Given the description of an element on the screen output the (x, y) to click on. 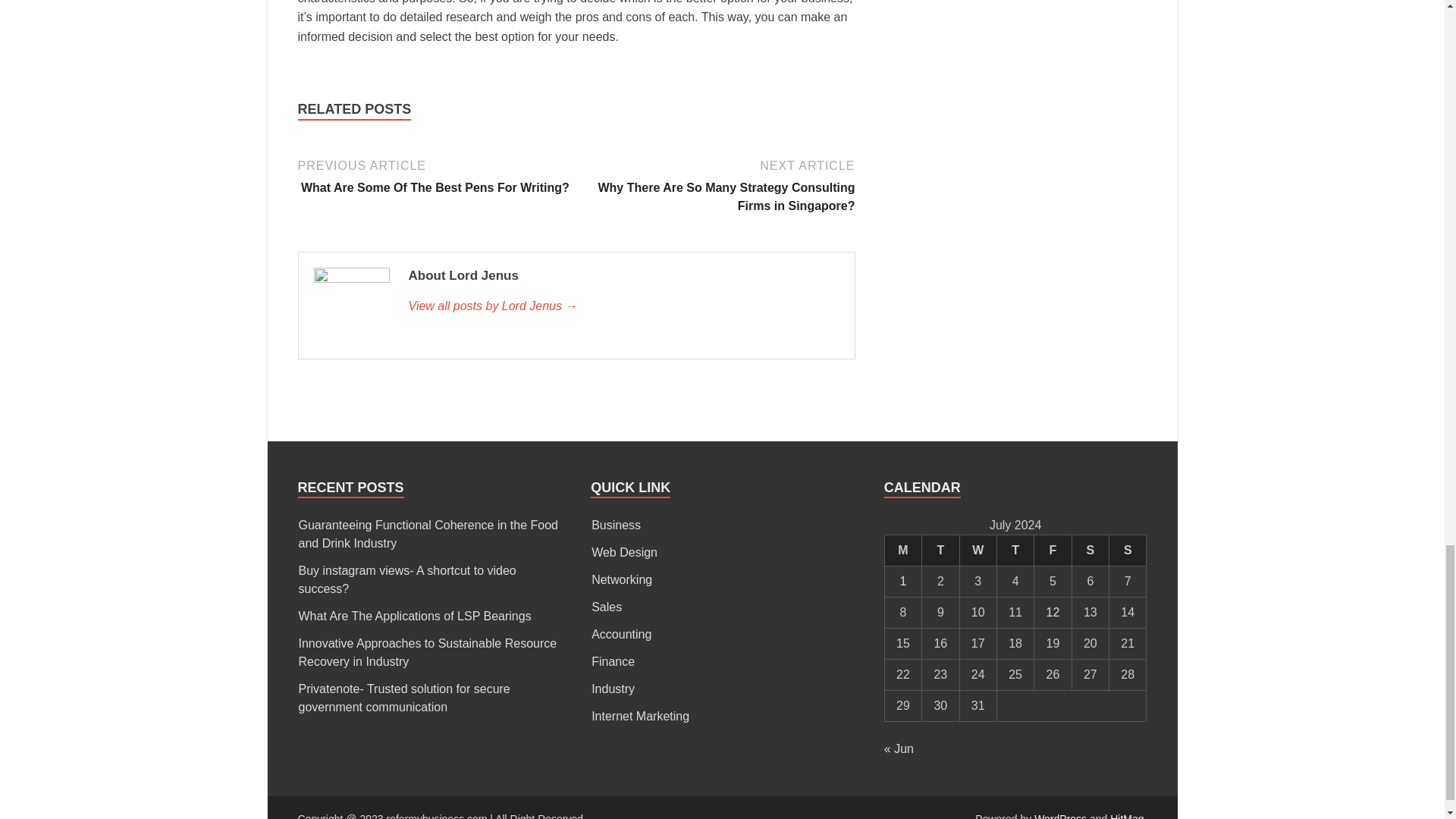
Saturday (1089, 550)
Lord Jenus (622, 306)
Friday (1052, 550)
Sunday (1128, 550)
Thursday (1014, 550)
Wednesday (977, 550)
Monday (902, 550)
Tuesday (940, 550)
